Given the description of an element on the screen output the (x, y) to click on. 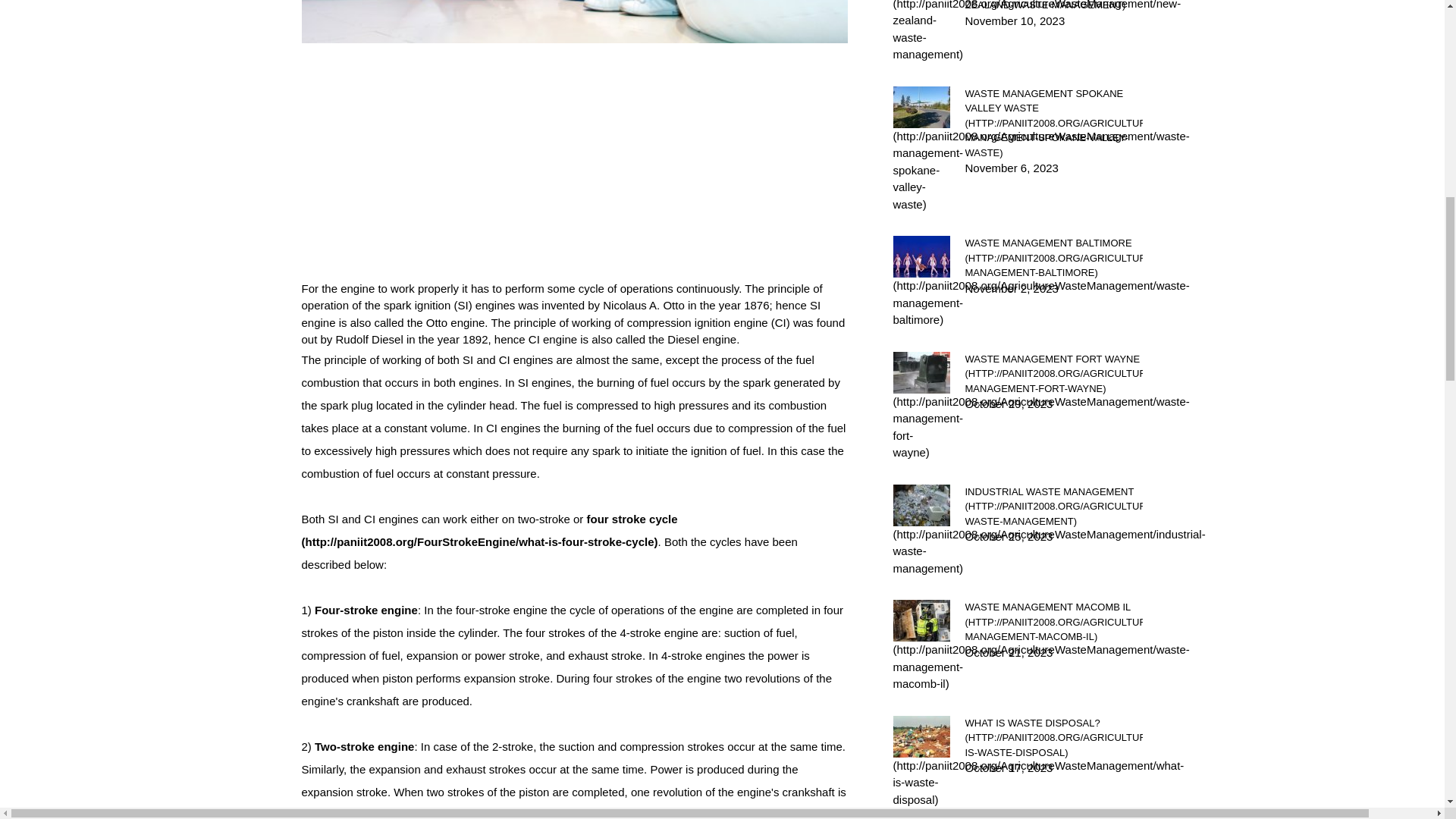
INDUSTRIAL WASTE MANAGEMENT (1052, 506)
WASTE MANAGEMENT BALTIMORE (1052, 257)
four stroke cycle (489, 529)
Advertisement (574, 173)
WASTE MANAGEMENT FORT WAYNE (1052, 374)
WASTE MANAGEMENT SPOKANE VALLEY WASTE (1052, 123)
What is four stroke cycle? (489, 529)
NEW ZEALAND WASTE MANAGEMENT (1052, 6)
WHAT IS WASTE DISPOSAL? (1052, 737)
WASTE MANAGEMENT MACOMB IL (1052, 621)
